Given the description of an element on the screen output the (x, y) to click on. 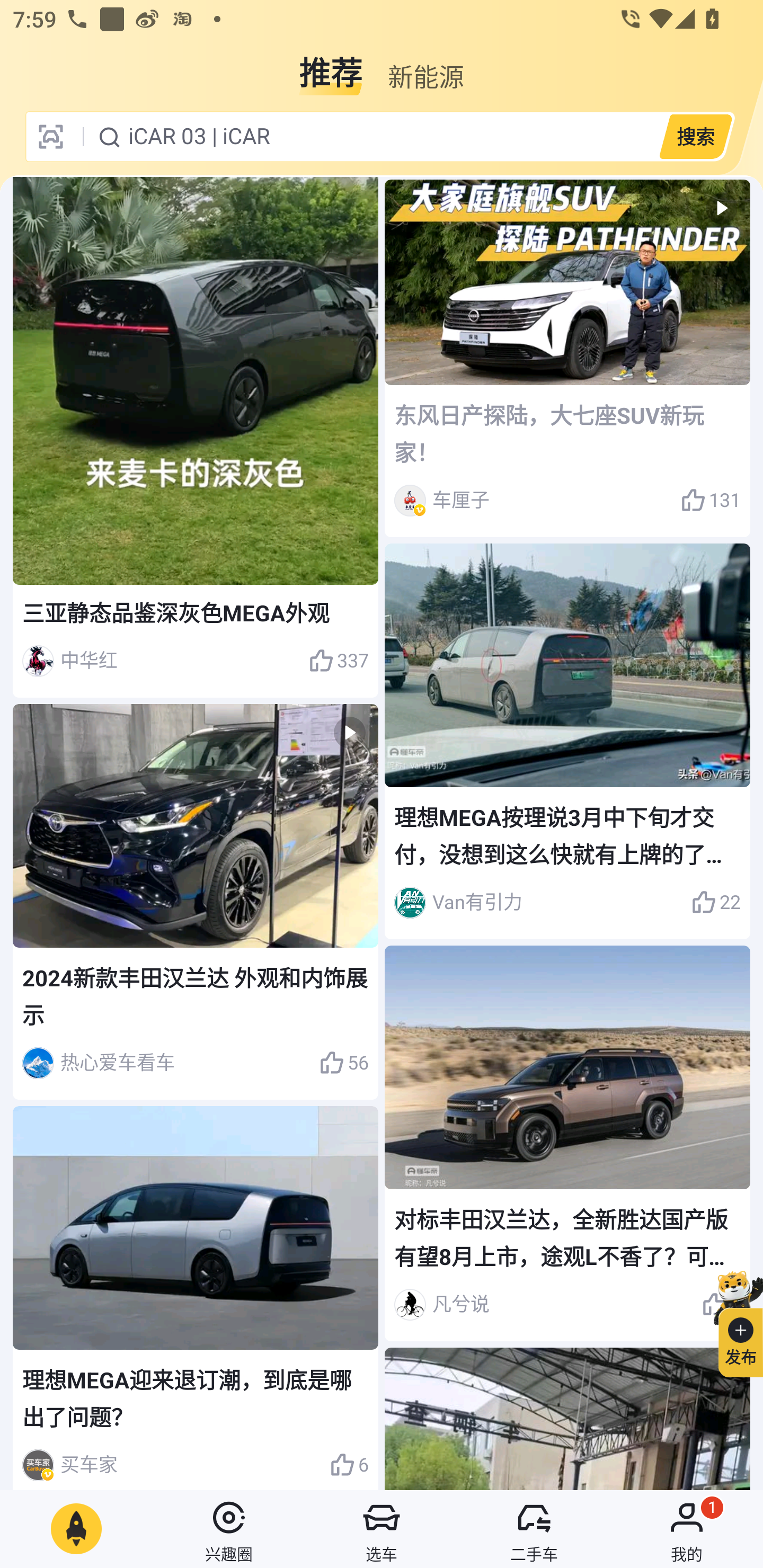
推荐 (330, 65)
新能源 (425, 65)
搜索 (695, 136)
三亚静态品鉴深灰色MEGA外观 中华红 337 (195, 437)
 东风日产探陆，大七座SUV新玩家！ 车厘子 131 (567, 358)
131 (710, 499)
337 (338, 660)
 2024新款丰田汉兰达 外观和内饰展示 热心爱车看车 56 (195, 901)
22 (715, 902)
56 (343, 1062)
理想MEGA迎来退订潮，到底是哪出了问题？ 买车家 6 (195, 1297)
发布 (732, 1321)
6 (348, 1464)
 兴趣圈 (228, 1528)
 选车 (381, 1528)
 二手车 (533, 1528)
 我的 (686, 1528)
